Given the description of an element on the screen output the (x, y) to click on. 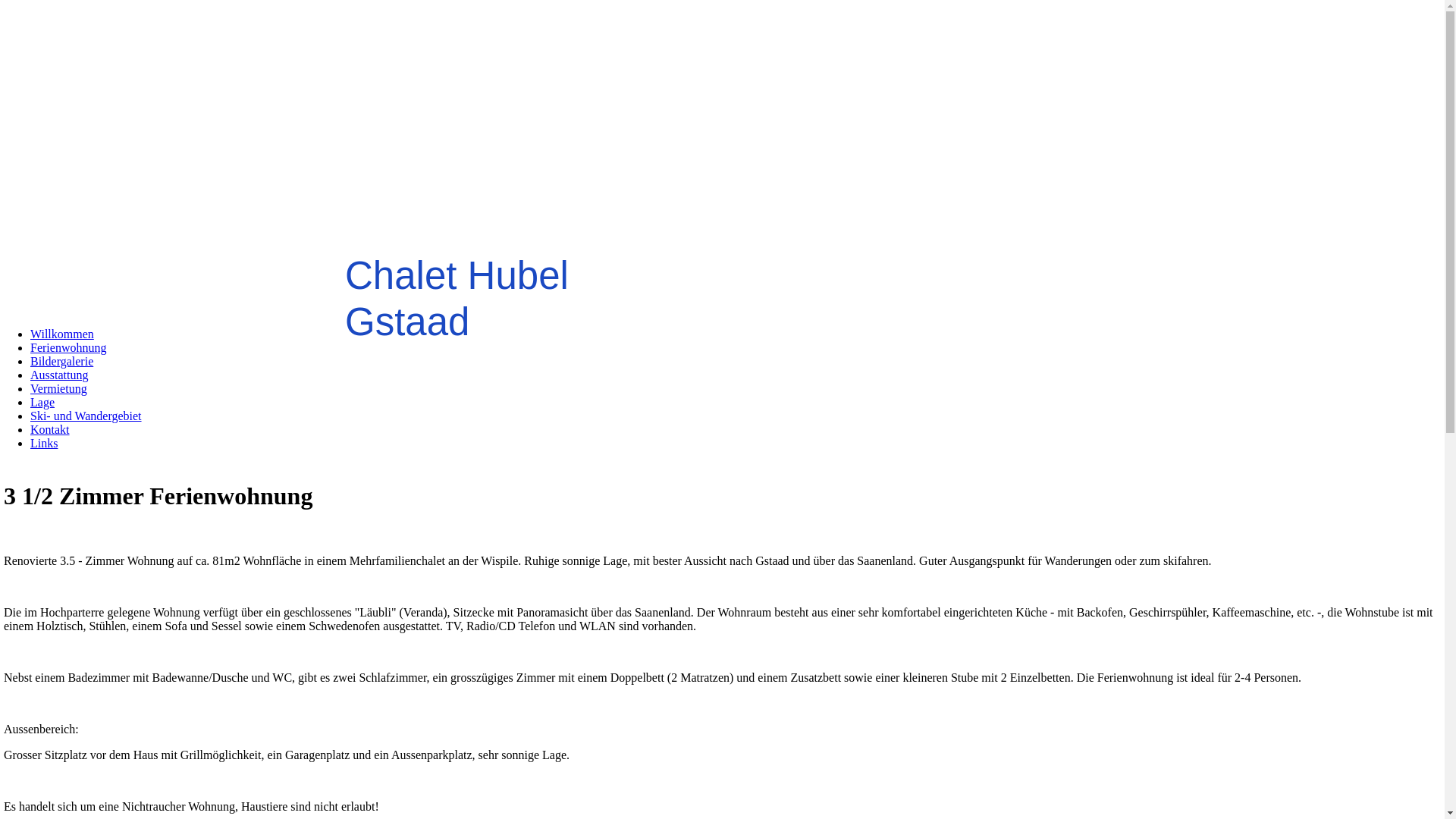
Ferienwohnung Element type: text (68, 347)
Willkommen Element type: text (62, 333)
Vermietung Element type: text (58, 388)
Ski- und Wandergebiet Element type: text (85, 415)
Lage Element type: text (42, 401)
Ausstattung Element type: text (58, 374)
Bildergalerie Element type: text (61, 360)
Links Element type: text (43, 442)
Kontakt Element type: text (49, 429)
